Given the description of an element on the screen output the (x, y) to click on. 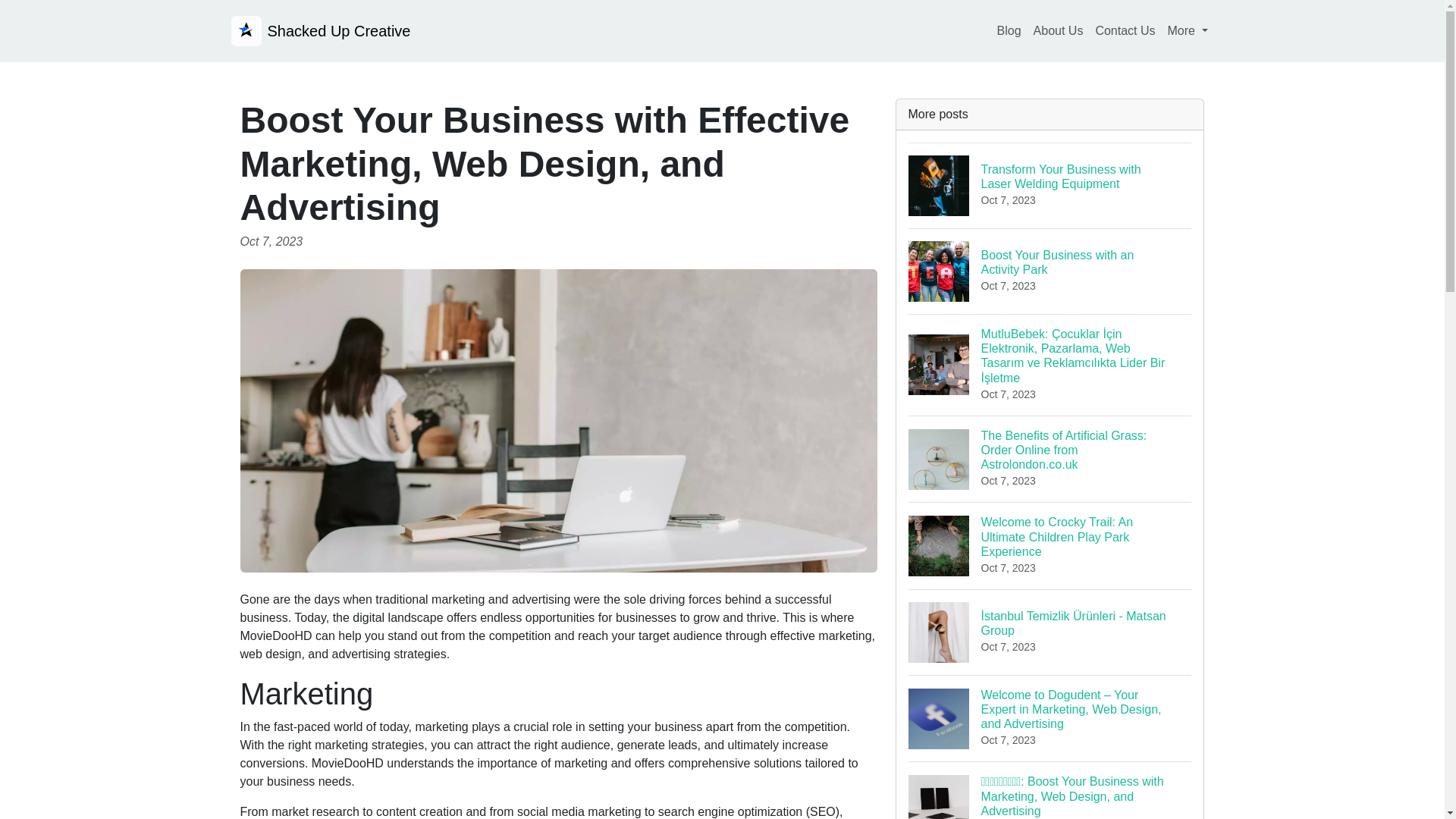
Blog (1009, 30)
Shacked Up Creative (320, 30)
More (1187, 30)
Contact Us (1050, 270)
About Us (1124, 30)
